Given the description of an element on the screen output the (x, y) to click on. 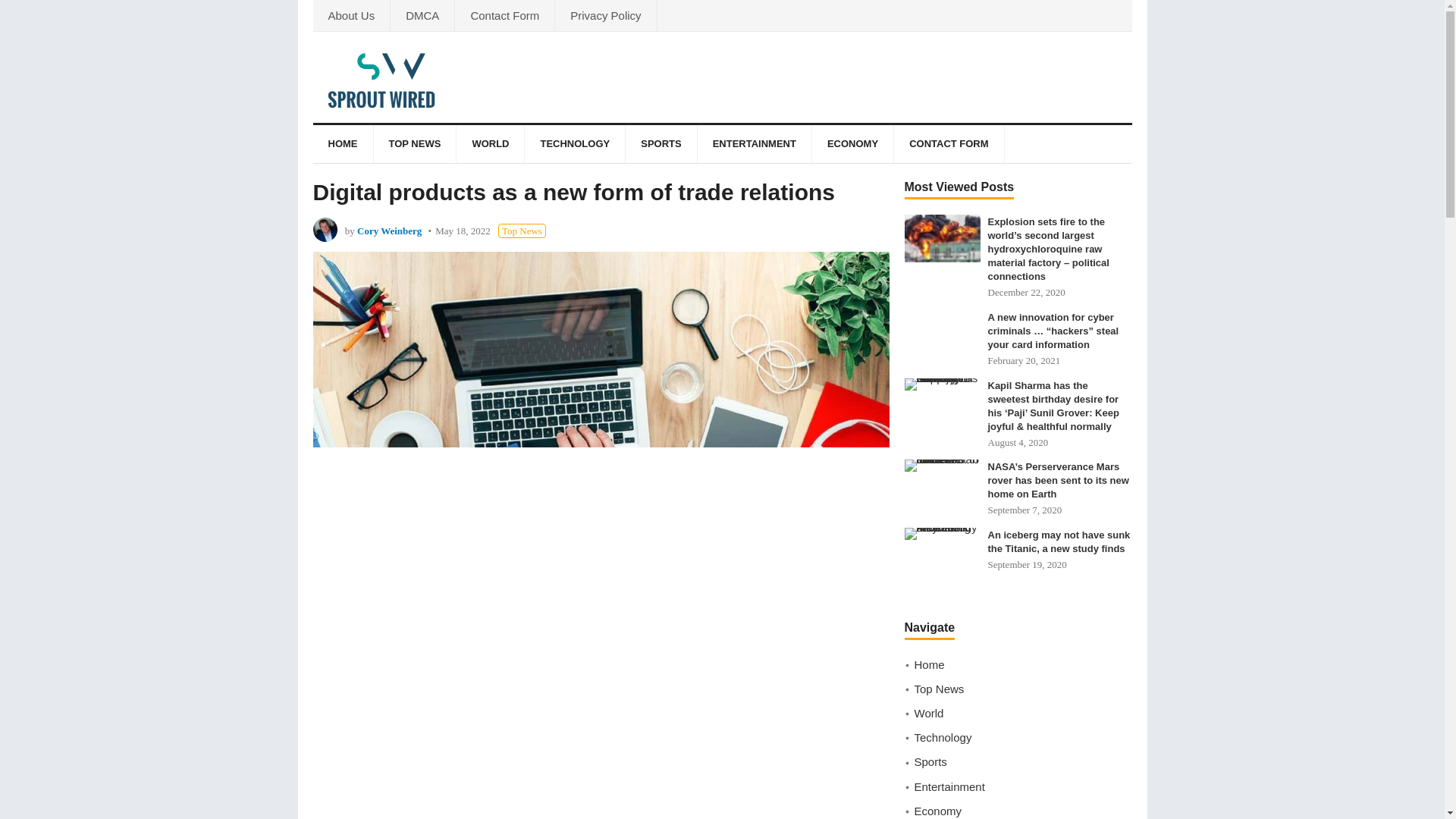
HOME (342, 143)
TOP NEWS (413, 143)
ENTERTAINMENT (753, 143)
Posts by Cory Weinberg (389, 230)
About Us (351, 15)
WORLD (490, 143)
Advertisement (600, 718)
Contact Form (504, 15)
ECONOMY (852, 143)
